Given the description of an element on the screen output the (x, y) to click on. 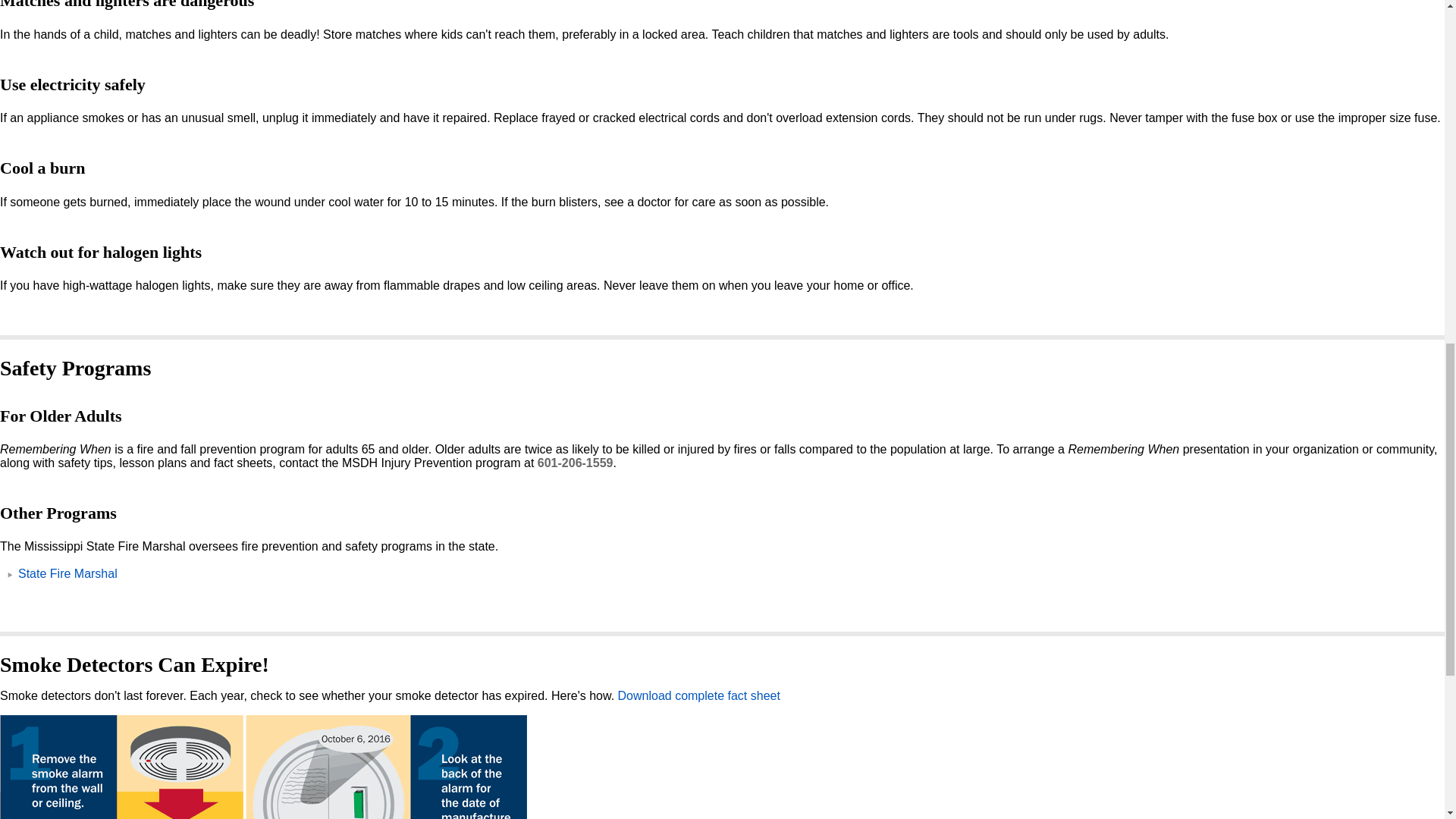
Download complete fact sheet (698, 695)
State Fire Marshal (67, 573)
